Given the description of an element on the screen output the (x, y) to click on. 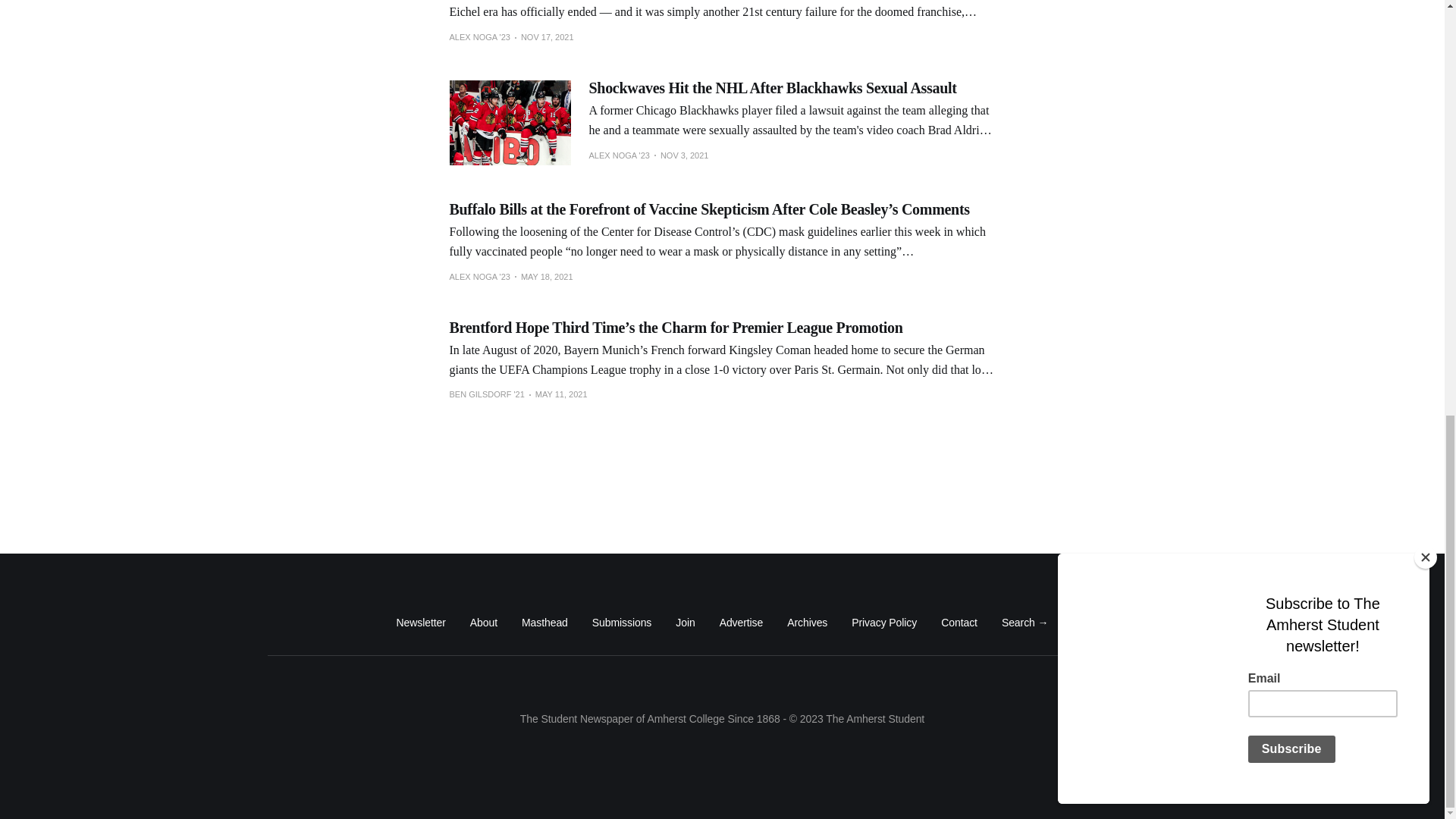
Privacy Policy (884, 622)
Masthead (544, 622)
Newsletter (420, 622)
Contact (958, 622)
Archives (807, 622)
Submissions (621, 622)
Advertise (740, 622)
About (483, 622)
Join (684, 622)
